Given the description of an element on the screen output the (x, y) to click on. 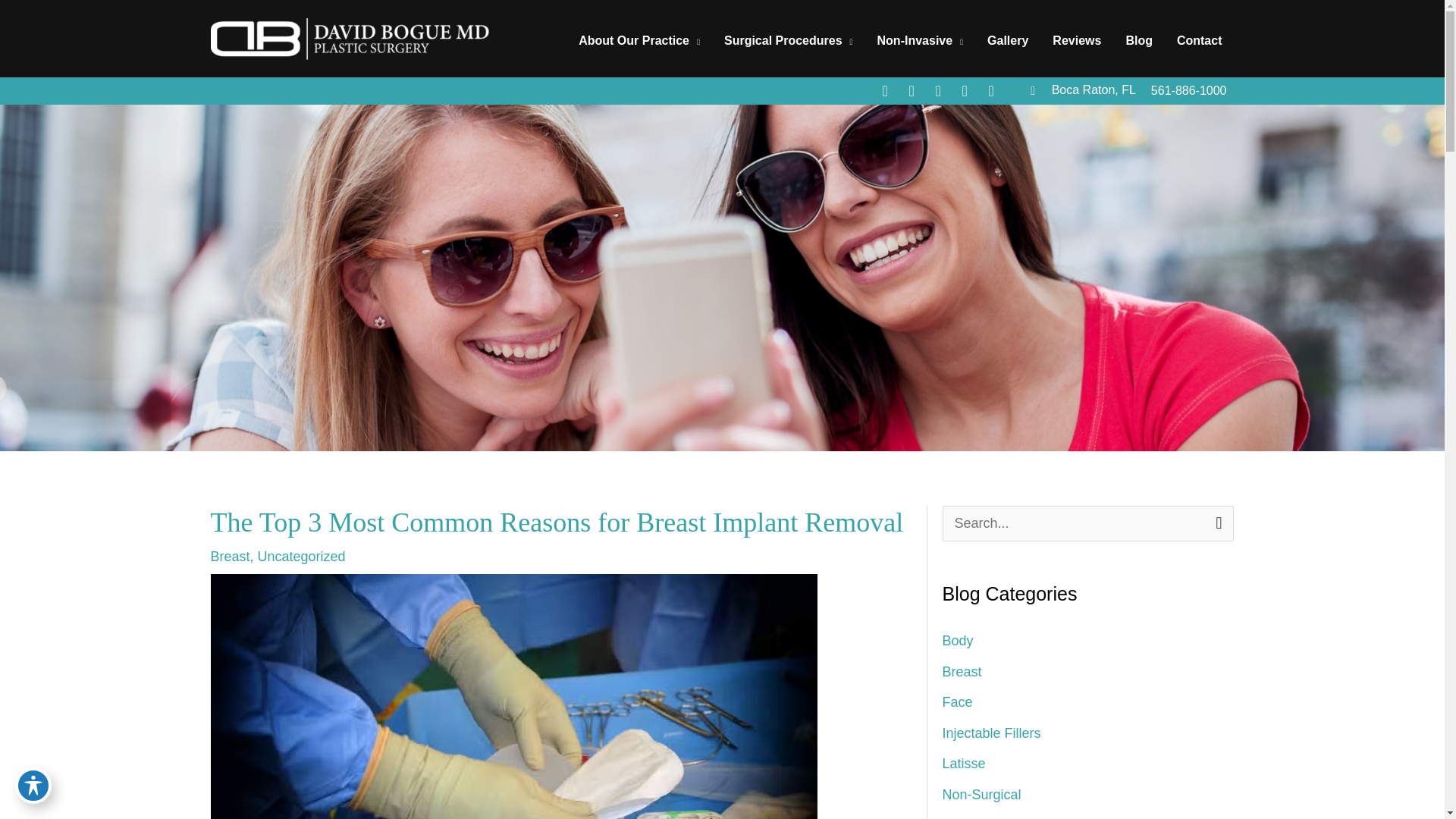
Surgical Procedures (787, 40)
Gallery (1008, 40)
Contact (1199, 40)
Reviews (1077, 40)
Non-Invasive (919, 40)
About Our Practice (638, 40)
Blog (1138, 40)
